Given the description of an element on the screen output the (x, y) to click on. 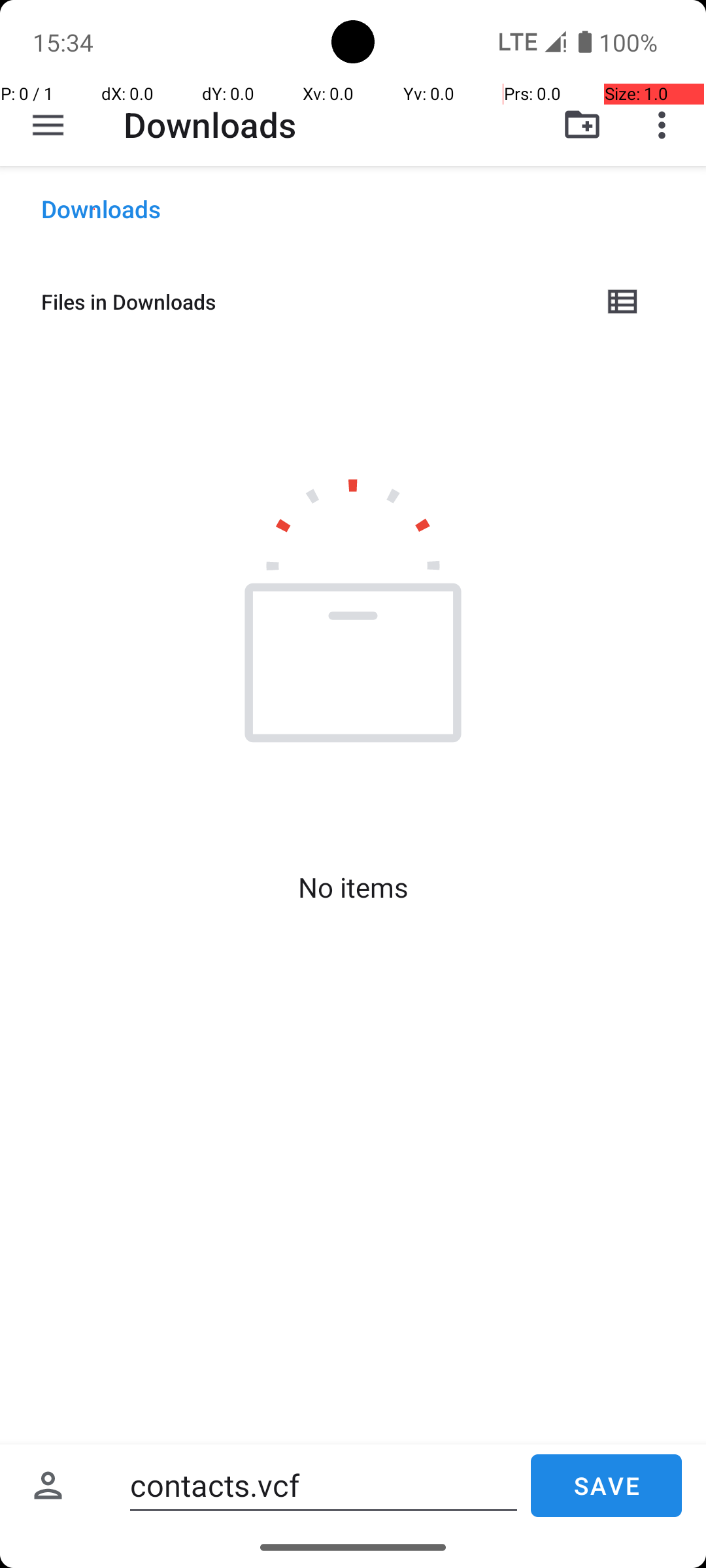
New folder Element type: android.widget.TextView (581, 124)
contacts.vcf Element type: android.widget.EditText (323, 1485)
